Given the description of an element on the screen output the (x, y) to click on. 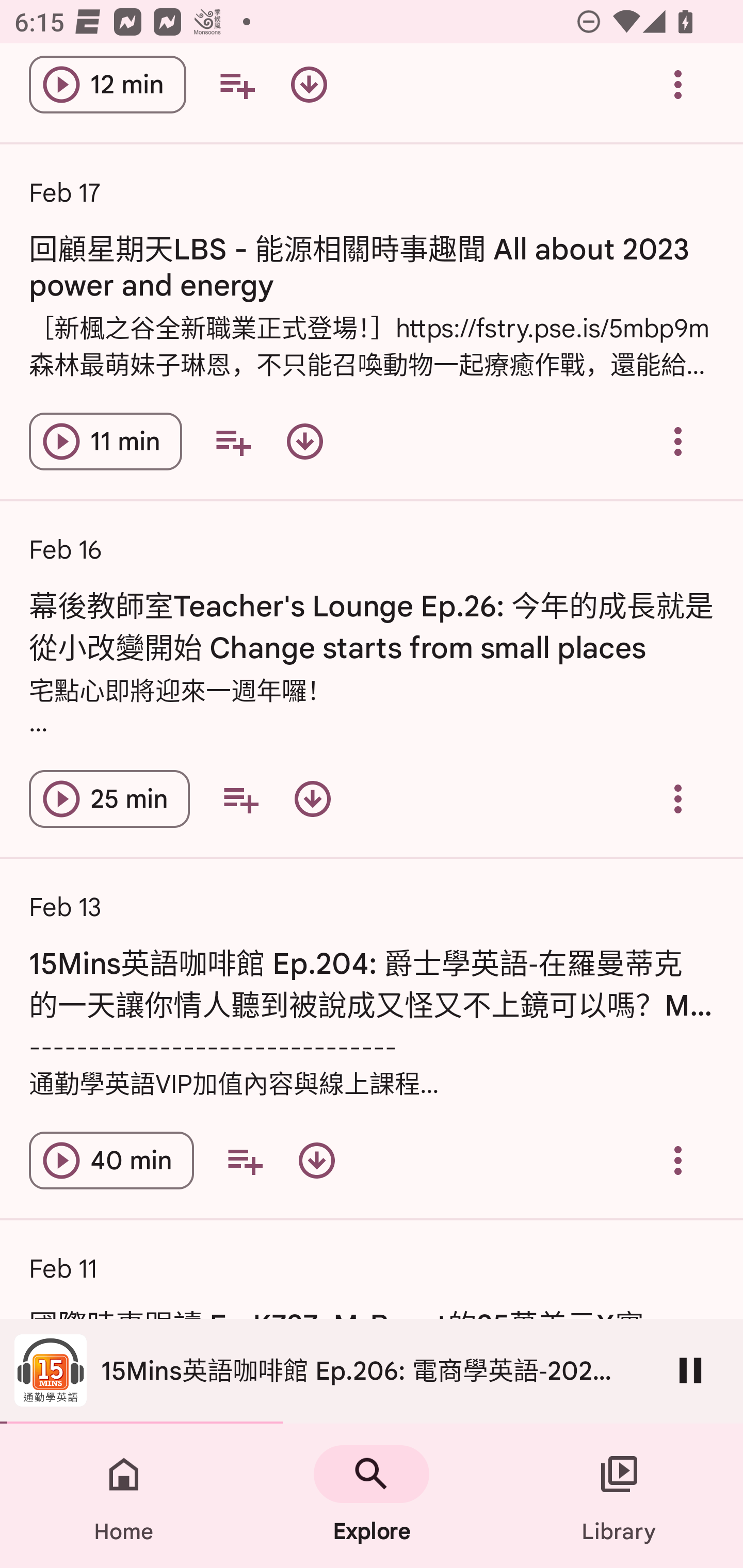
Add to your queue (236, 85)
Download episode (308, 85)
Overflow menu (677, 85)
Add to your queue (232, 441)
Download episode (304, 441)
Overflow menu (677, 441)
Add to your queue (240, 798)
Download episode (312, 798)
Overflow menu (677, 798)
Add to your queue (244, 1160)
Download episode (316, 1160)
Overflow menu (677, 1160)
Pause (690, 1370)
Home (123, 1495)
Library (619, 1495)
